Given the description of an element on the screen output the (x, y) to click on. 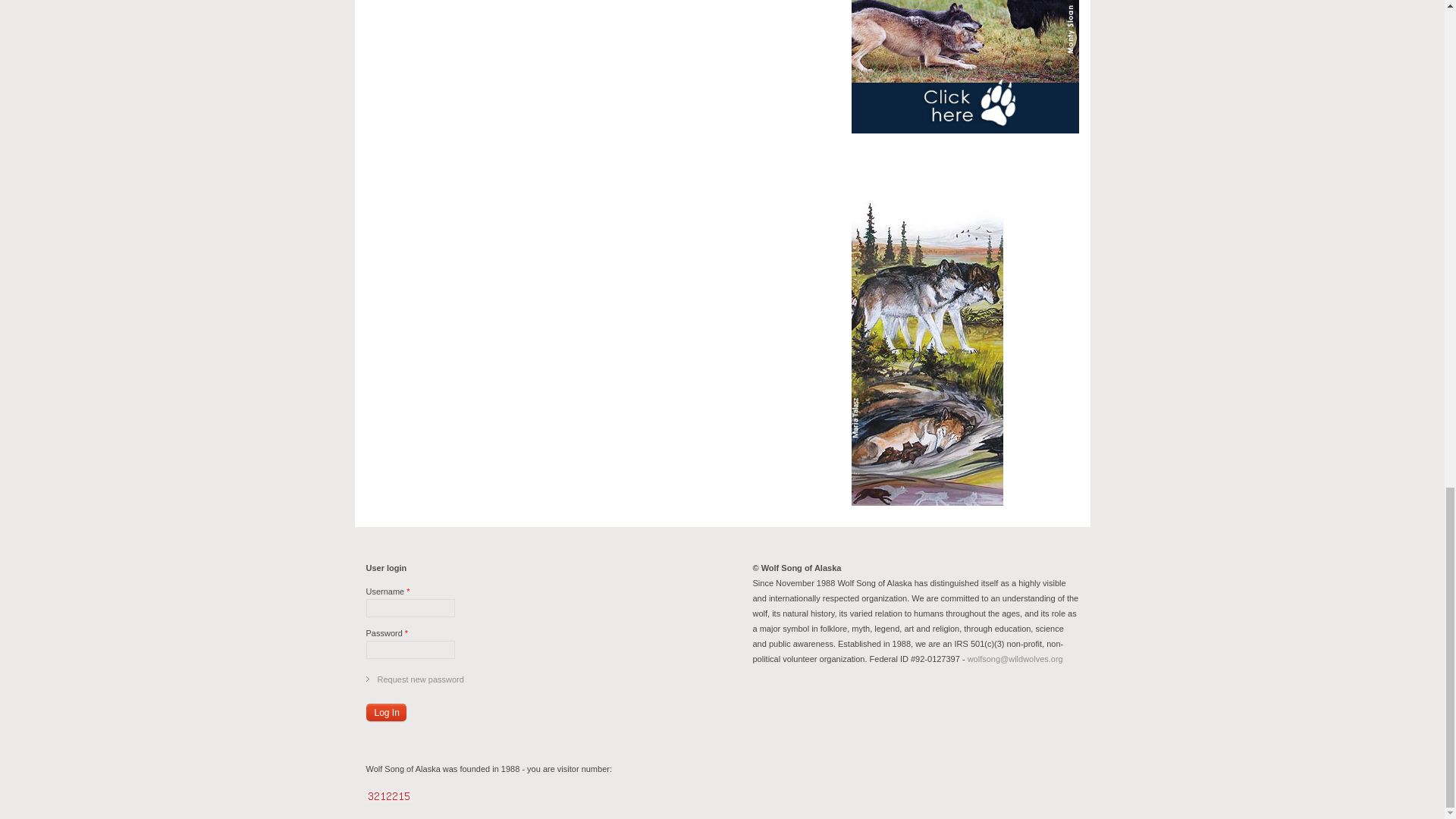
Log in (385, 712)
Request new password via e-mail. (420, 678)
